Given the description of an element on the screen output the (x, y) to click on. 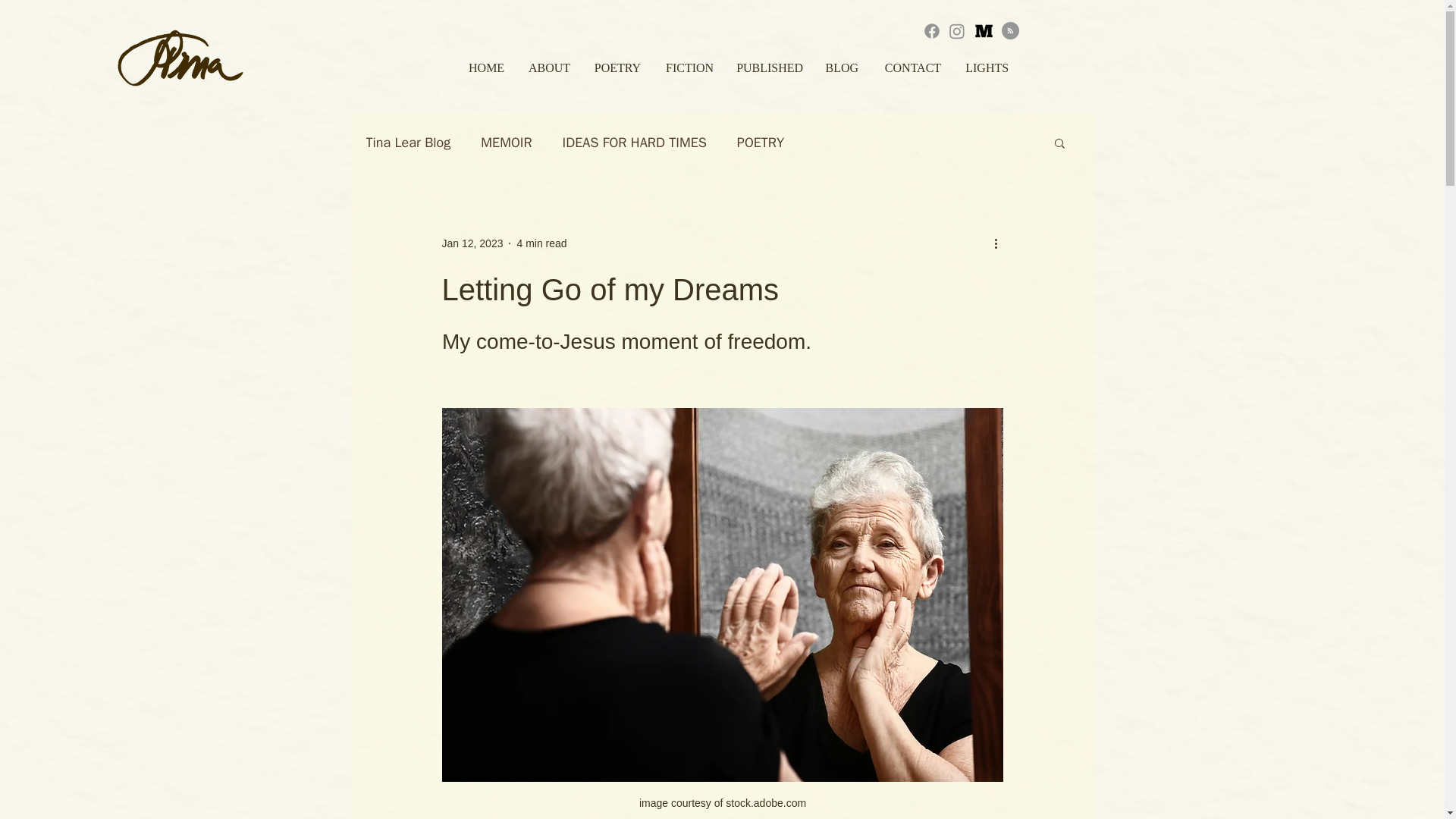
IDEAS FOR HARD TIMES (634, 142)
4 min read (541, 242)
FICTION (688, 67)
POETRY (616, 67)
MEMOIR (505, 142)
CONTACT (910, 67)
HOME (484, 67)
Tina Lear Blog (407, 142)
POETRY (760, 142)
Jan 12, 2023 (471, 242)
